Given the description of an element on the screen output the (x, y) to click on. 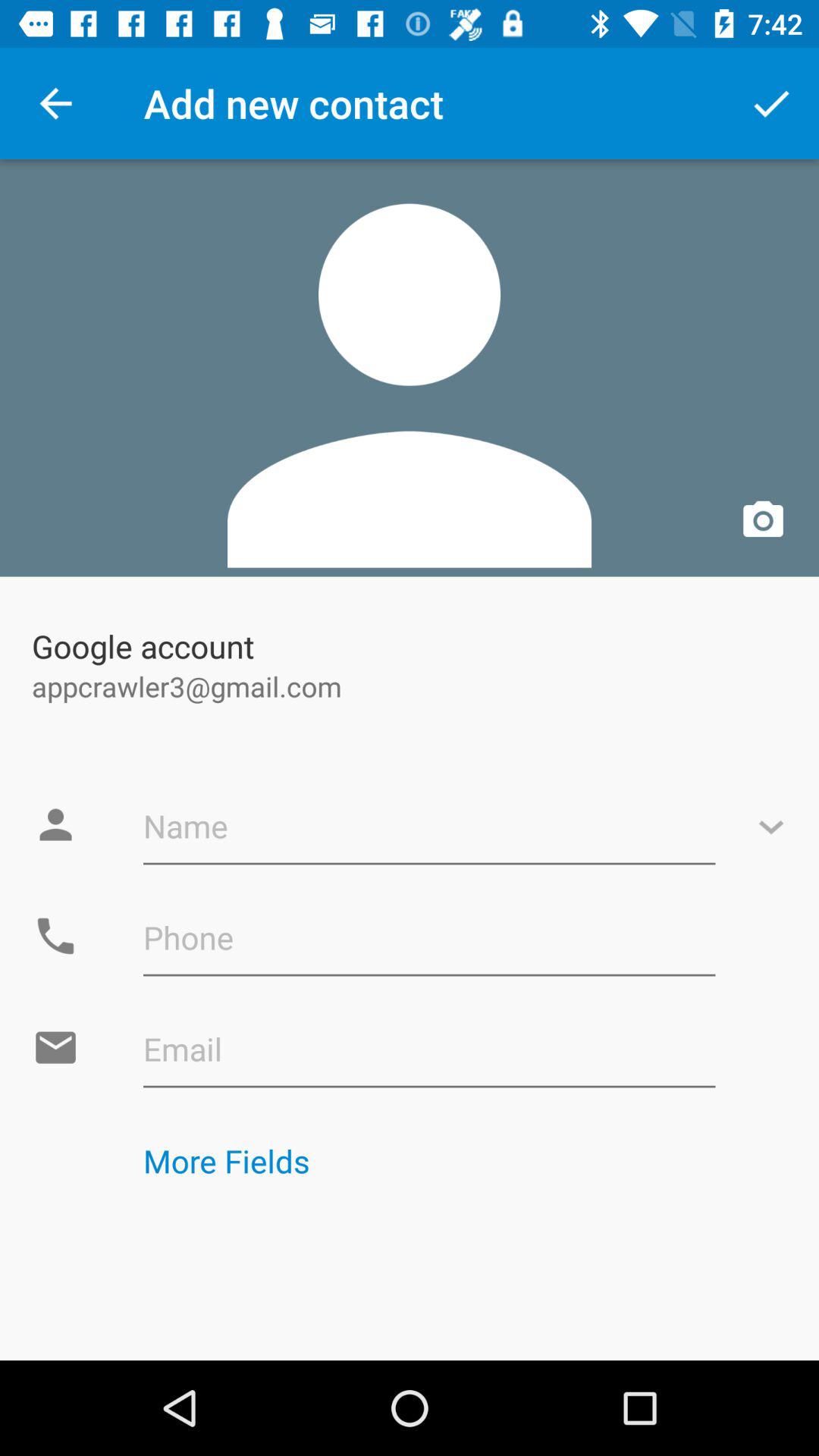
tap the item above google account item (409, 367)
